Given the description of an element on the screen output the (x, y) to click on. 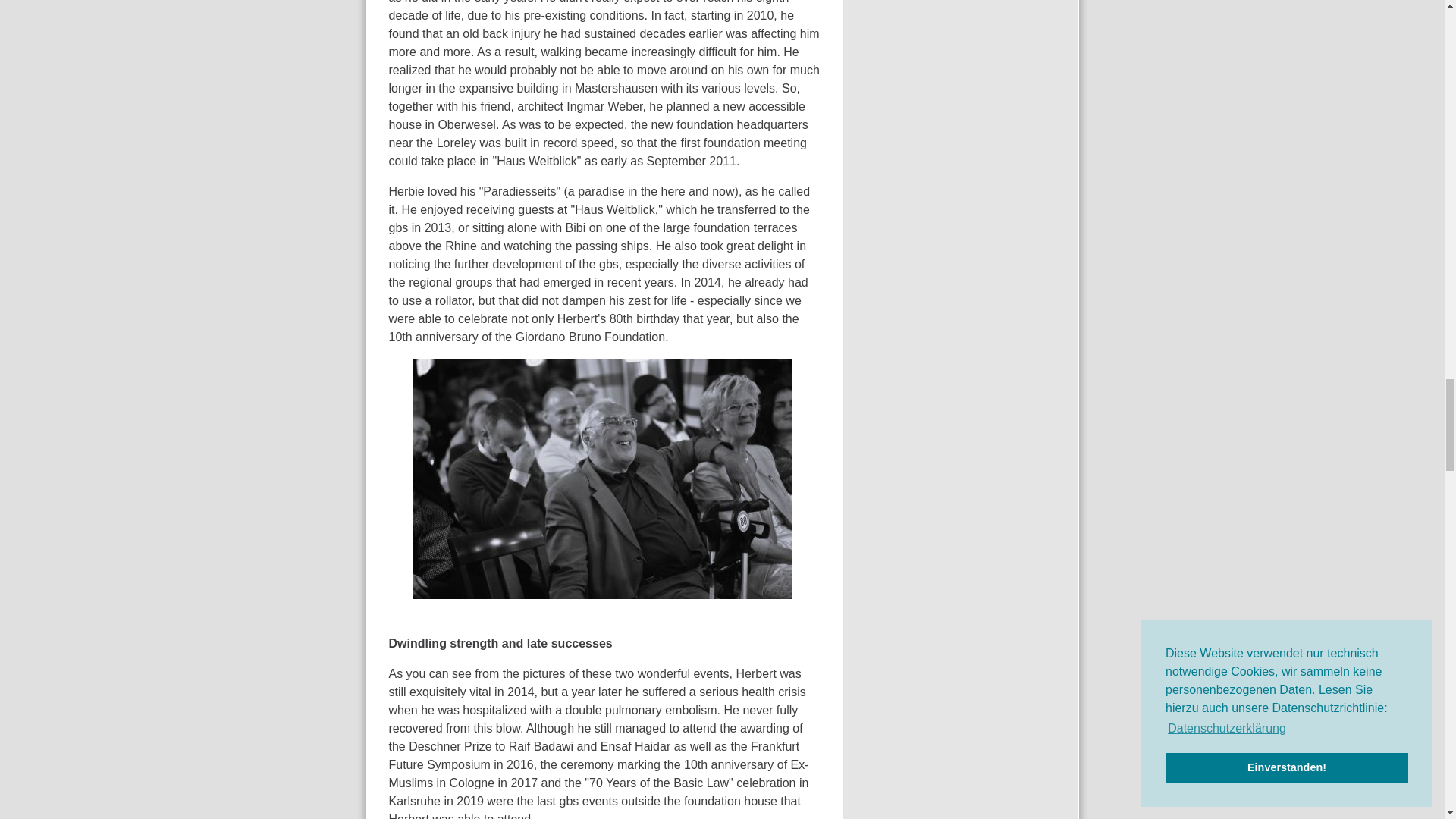
Auf der Feier zum 80. Geburtstag (602, 478)
